Given the description of an element on the screen output the (x, y) to click on. 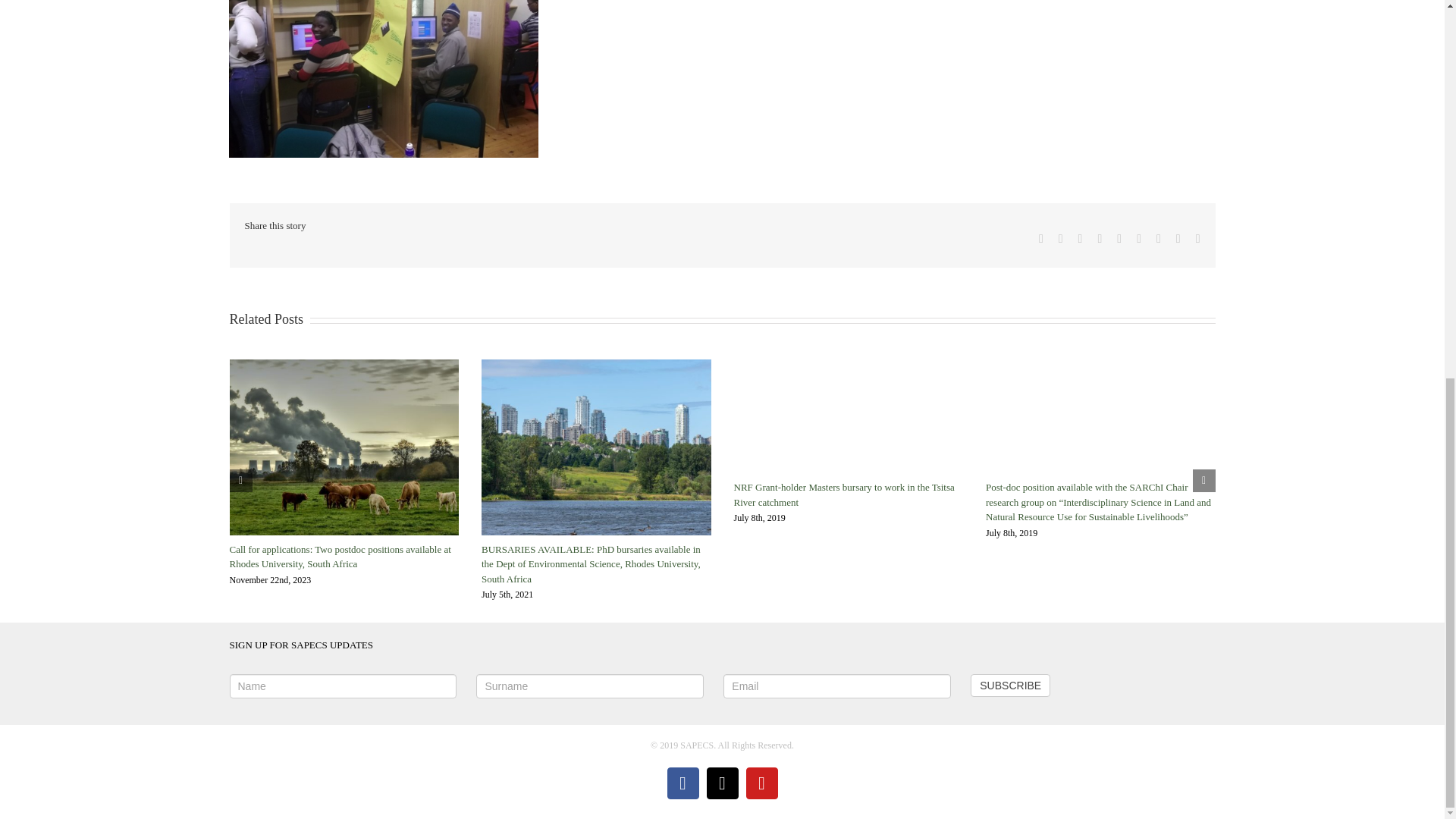
b (382, 79)
